Given the description of an element on the screen output the (x, y) to click on. 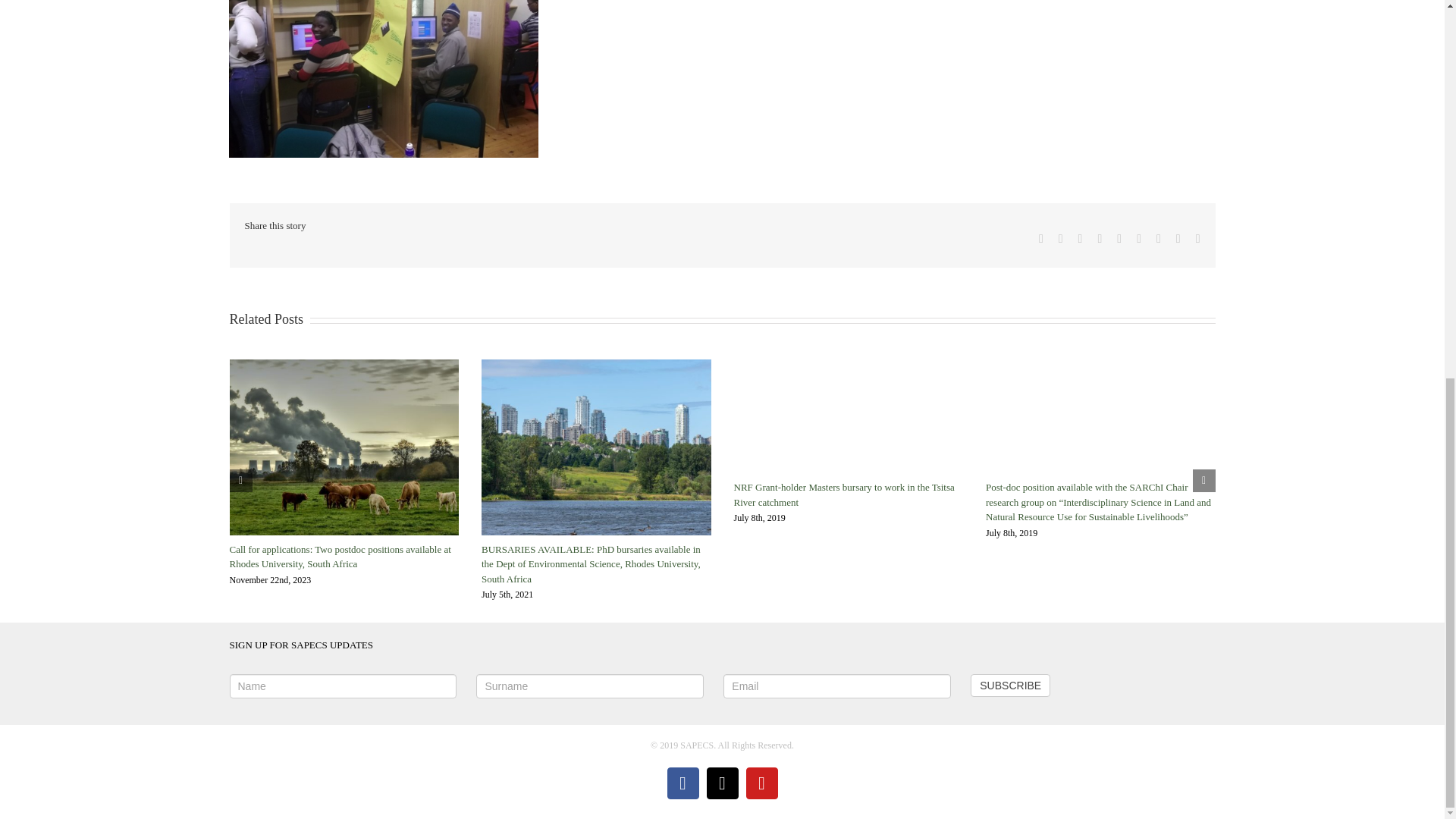
b (382, 79)
